Given the description of an element on the screen output the (x, y) to click on. 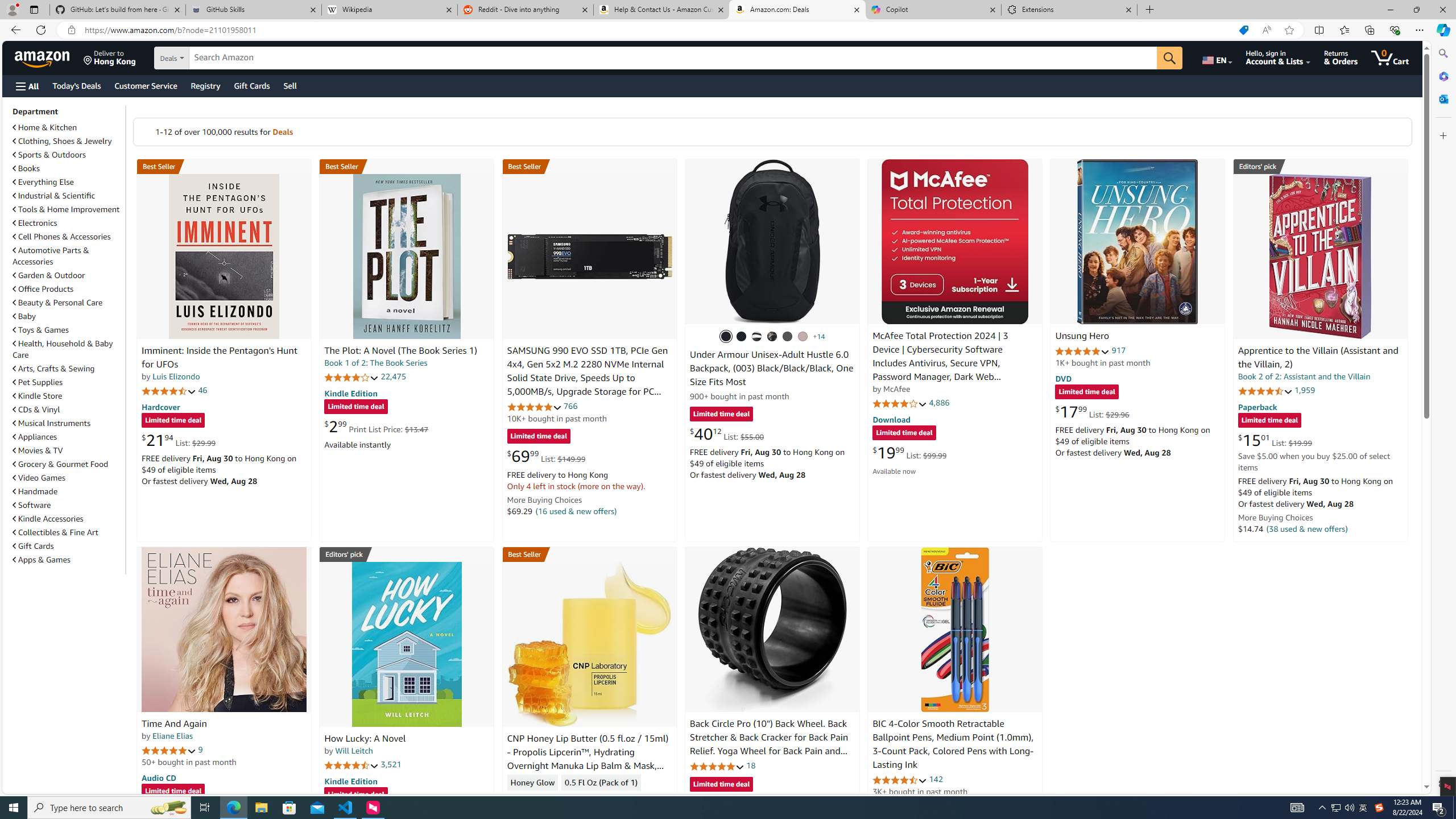
How Lucky: A Novel (365, 738)
Kindle Accessories (67, 518)
Books (67, 167)
Returns & Orders (1340, 57)
Best Seller in Lip Butters (589, 553)
4,886 (938, 402)
Toys & Games (40, 329)
Best Seller in Unexplained Mysteries (223, 165)
Cell Phones & Accessories (67, 236)
